Given the description of an element on the screen output the (x, y) to click on. 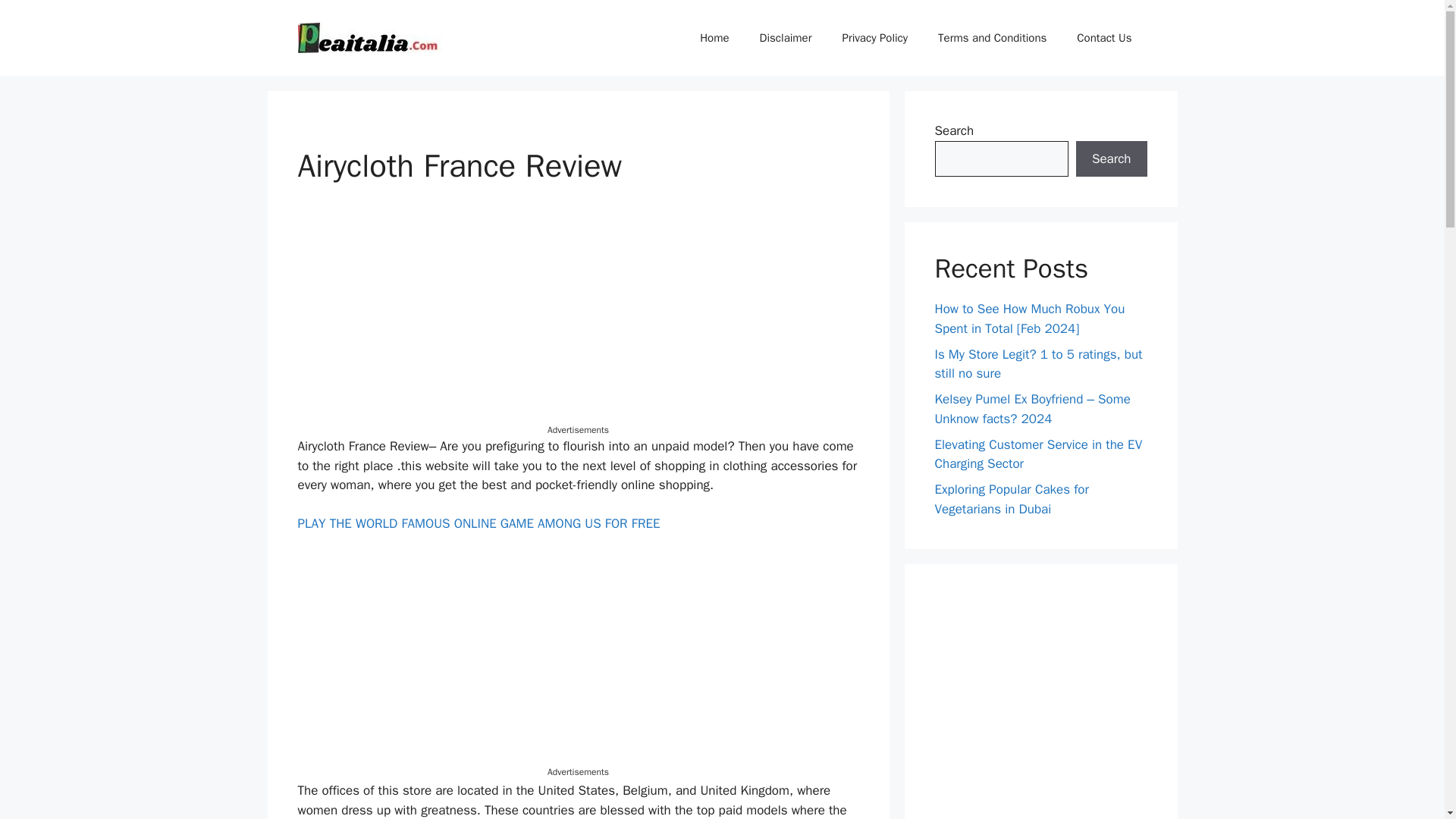
Elevating Customer Service in the EV Charging Sector (1037, 454)
Is My Store Legit? 1 to 5 ratings, but still no sure (1037, 363)
PLAY THE WORLD FAMOUS ONLINE GAME AMONG US FOR FREE (478, 523)
Exploring Popular Cakes for Vegetarians in Dubai (1010, 498)
Advertisement (578, 316)
Terms and Conditions (992, 37)
Advertisement (578, 658)
Search (1111, 158)
Privacy Policy (875, 37)
Disclaimer (785, 37)
Contact Us (1104, 37)
Home (714, 37)
